Given the description of an element on the screen output the (x, y) to click on. 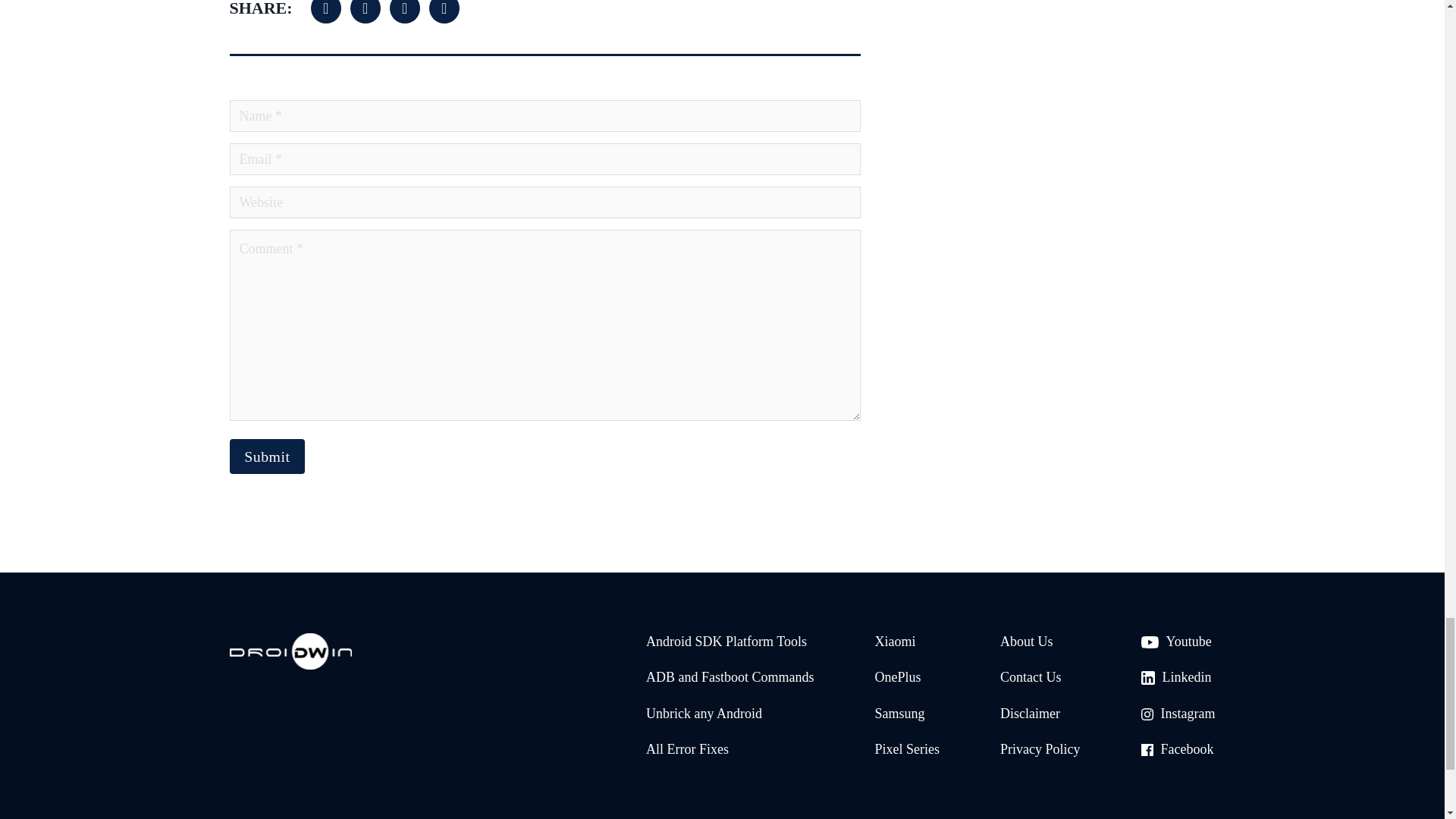
Submit (266, 456)
Submit (266, 456)
Droidwin (290, 654)
